Given the description of an element on the screen output the (x, y) to click on. 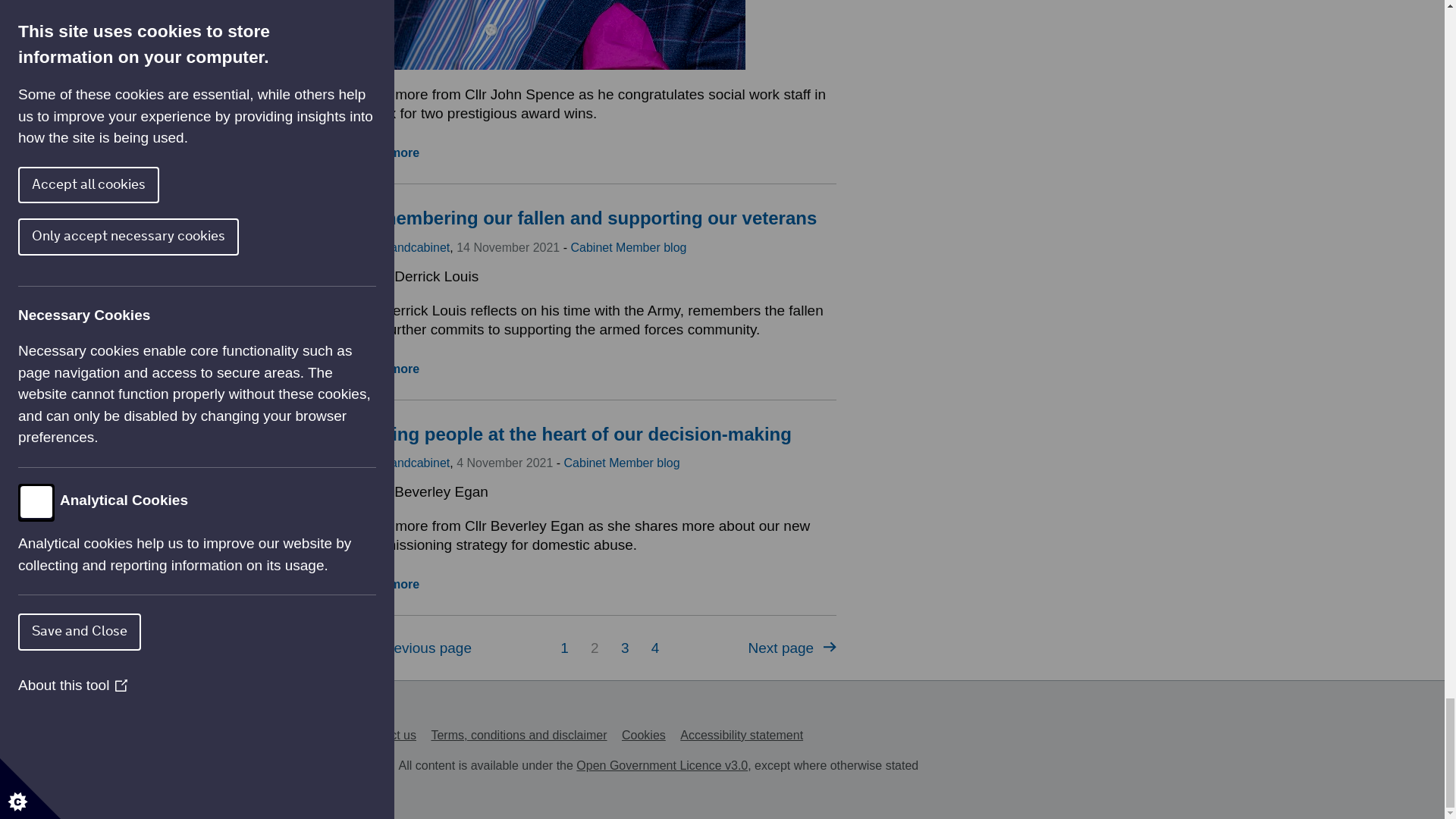
Posts by leaderandcabinet (402, 462)
Posts by leaderandcabinet (402, 246)
